Given the description of an element on the screen output the (x, y) to click on. 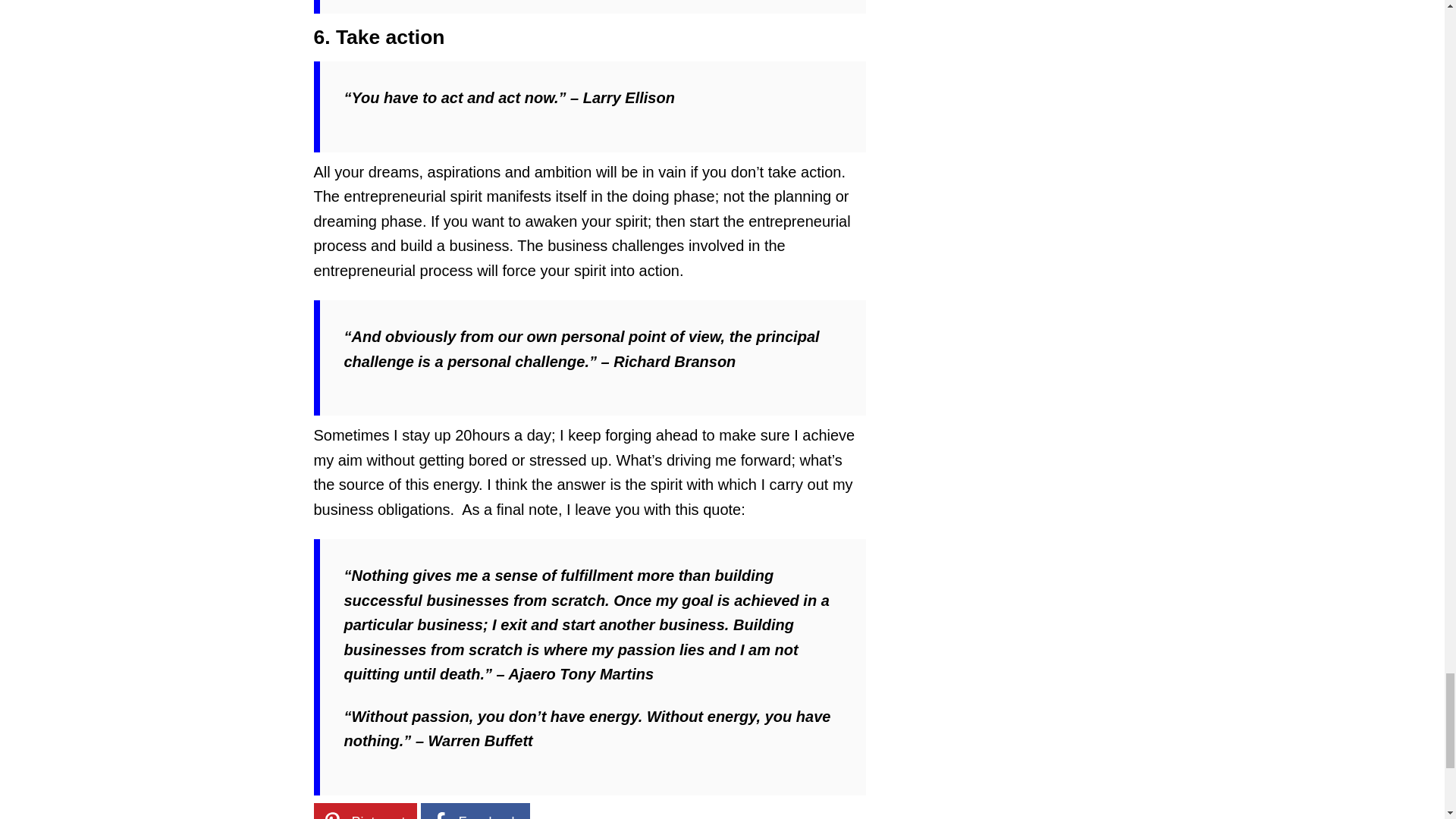
Facebook (474, 811)
Pinterest (365, 811)
